Given the description of an element on the screen output the (x, y) to click on. 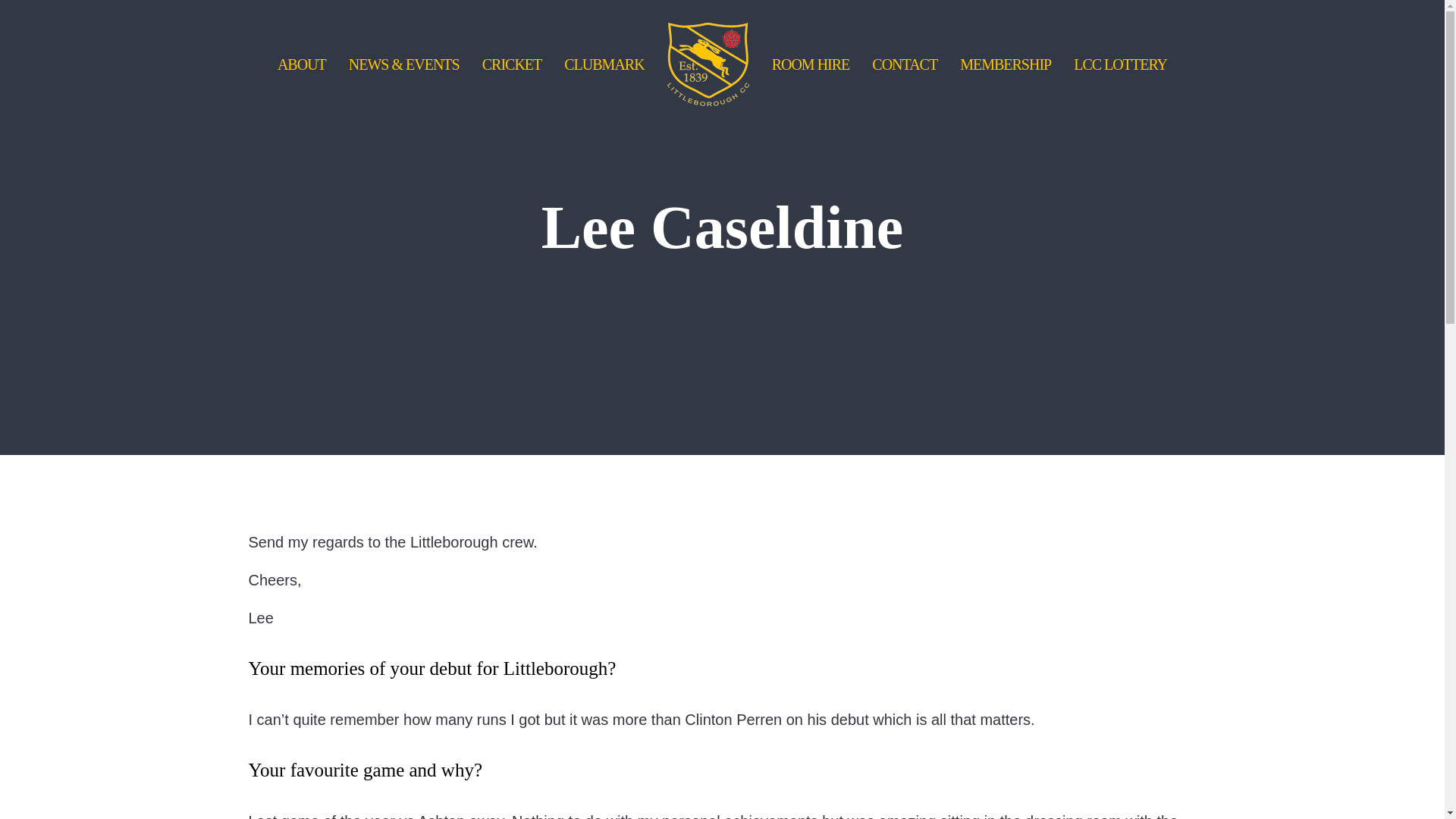
ROOM HIRE (810, 64)
CLUBMARK (603, 64)
CRICKET (511, 64)
